Given the description of an element on the screen output the (x, y) to click on. 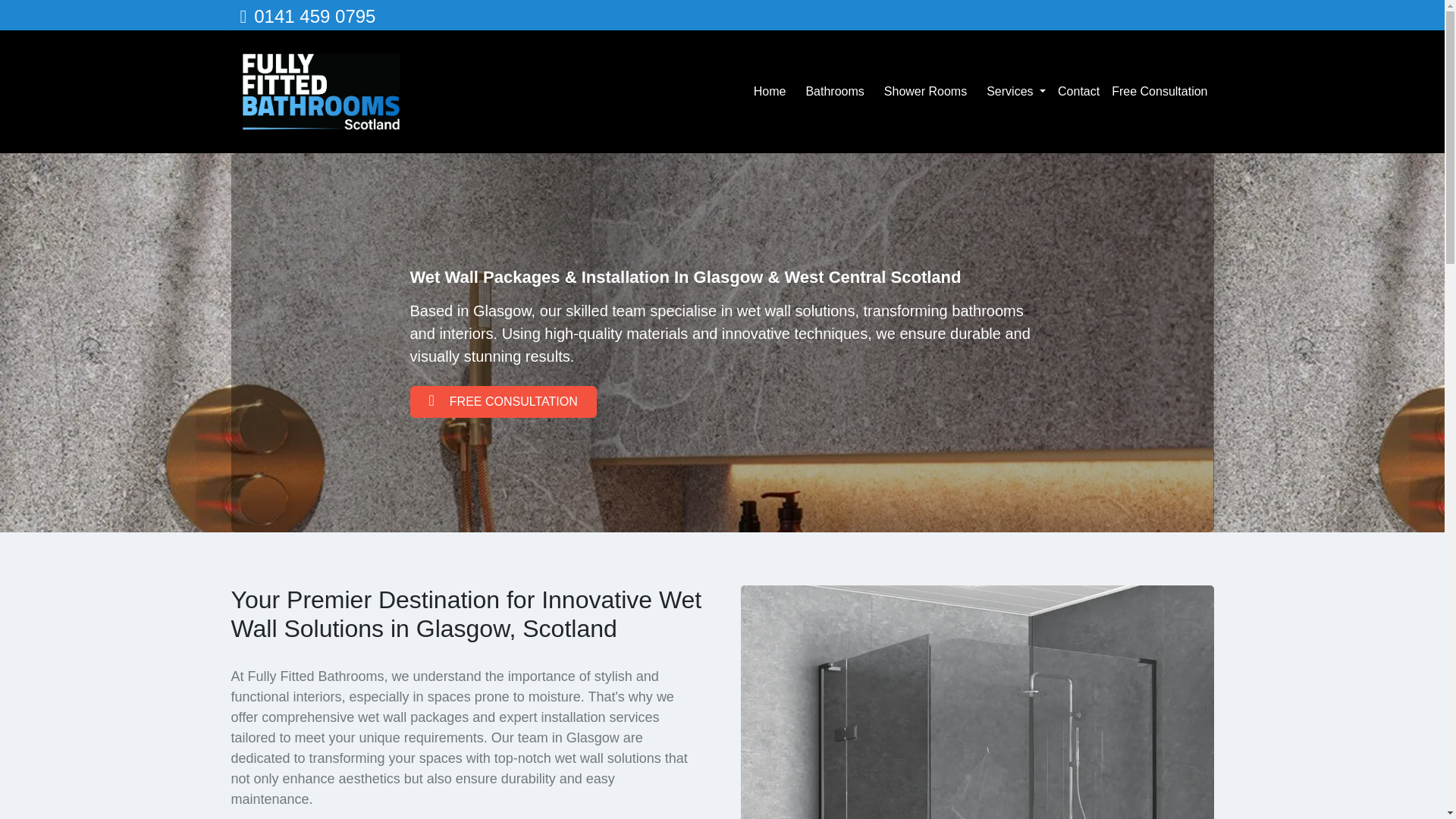
Contact (1078, 91)
Bathrooms (834, 91)
Home (770, 91)
0141 459 0795 (307, 15)
Shower Rooms (924, 91)
Services  (1015, 91)
Free Consultation (1158, 91)
FREE CONSULTATION (502, 401)
